Given the description of an element on the screen output the (x, y) to click on. 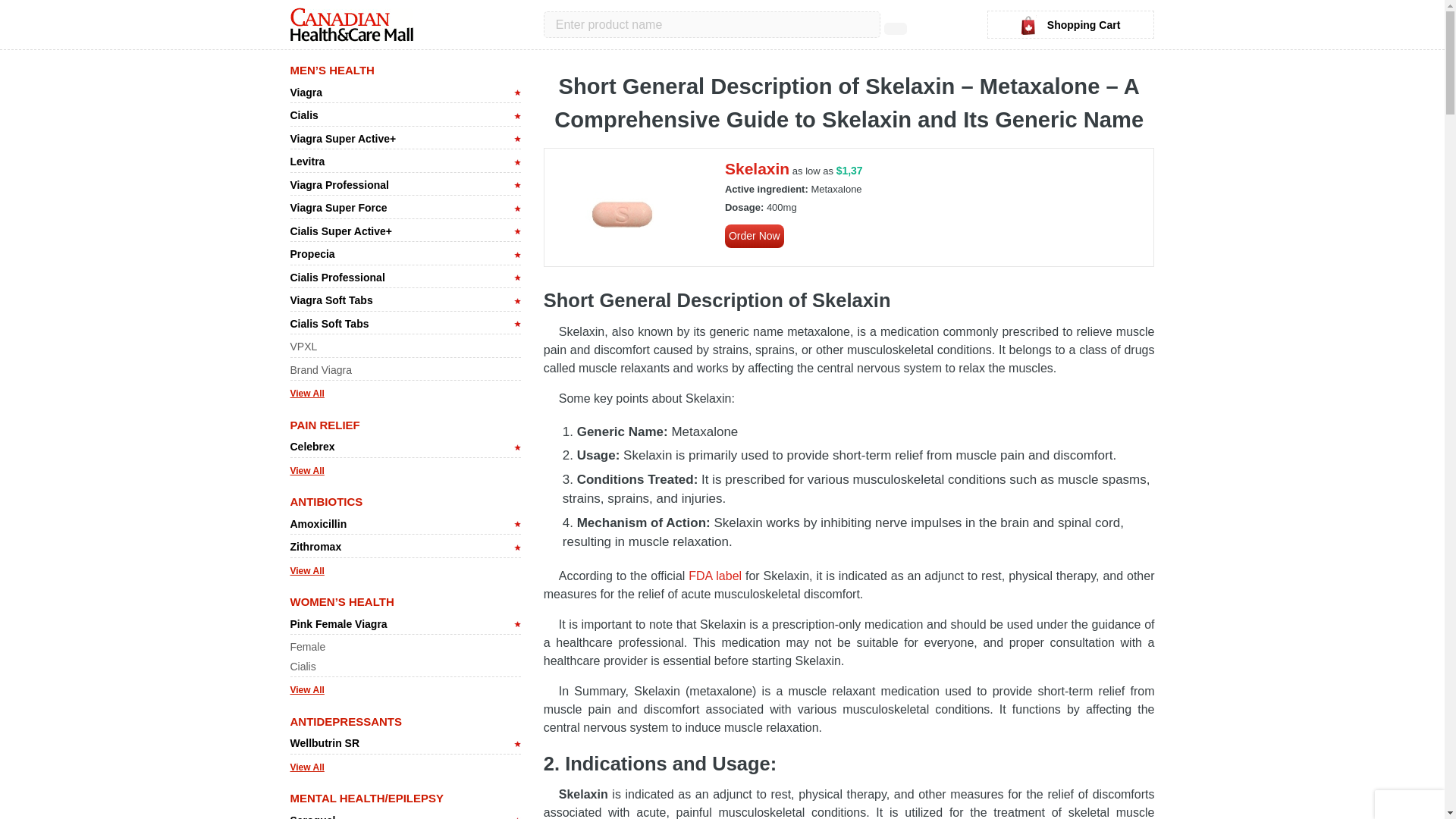
Skelaxin (754, 236)
FDA label (714, 575)
Enter product name (711, 24)
Skelaxin (757, 168)
Order Now (754, 236)
Skelaxin (622, 212)
Skelaxin (757, 168)
